Given the description of an element on the screen output the (x, y) to click on. 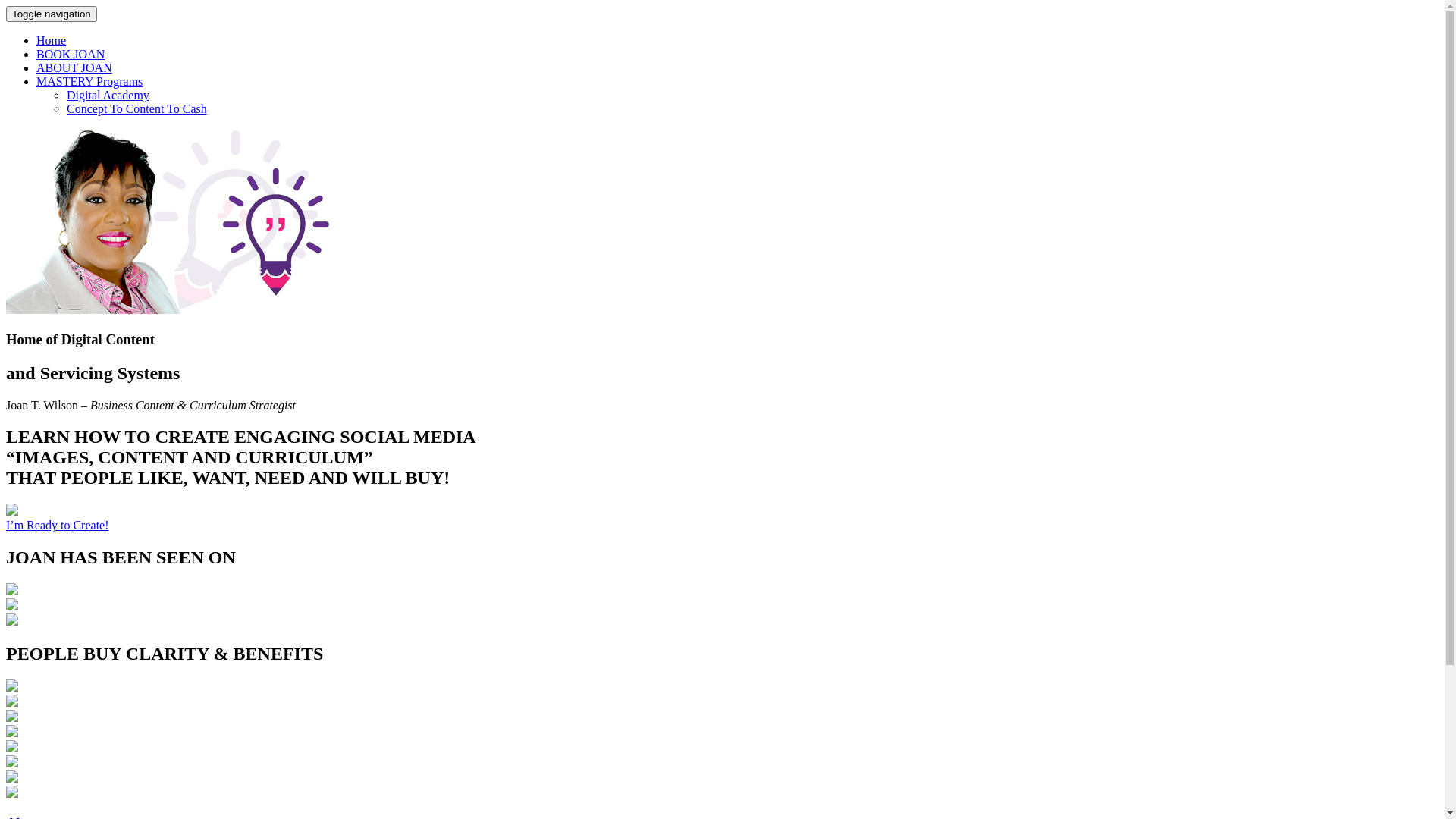
Concept To Content To Cash Element type: text (136, 108)
BOOK JOAN Element type: text (70, 53)
Digital Academy Element type: text (107, 94)
Toggle navigation Element type: text (51, 13)
Home Element type: text (50, 40)
ABOUT JOAN Element type: text (74, 67)
MASTERY Programs Element type: text (89, 81)
